Given the description of an element on the screen output the (x, y) to click on. 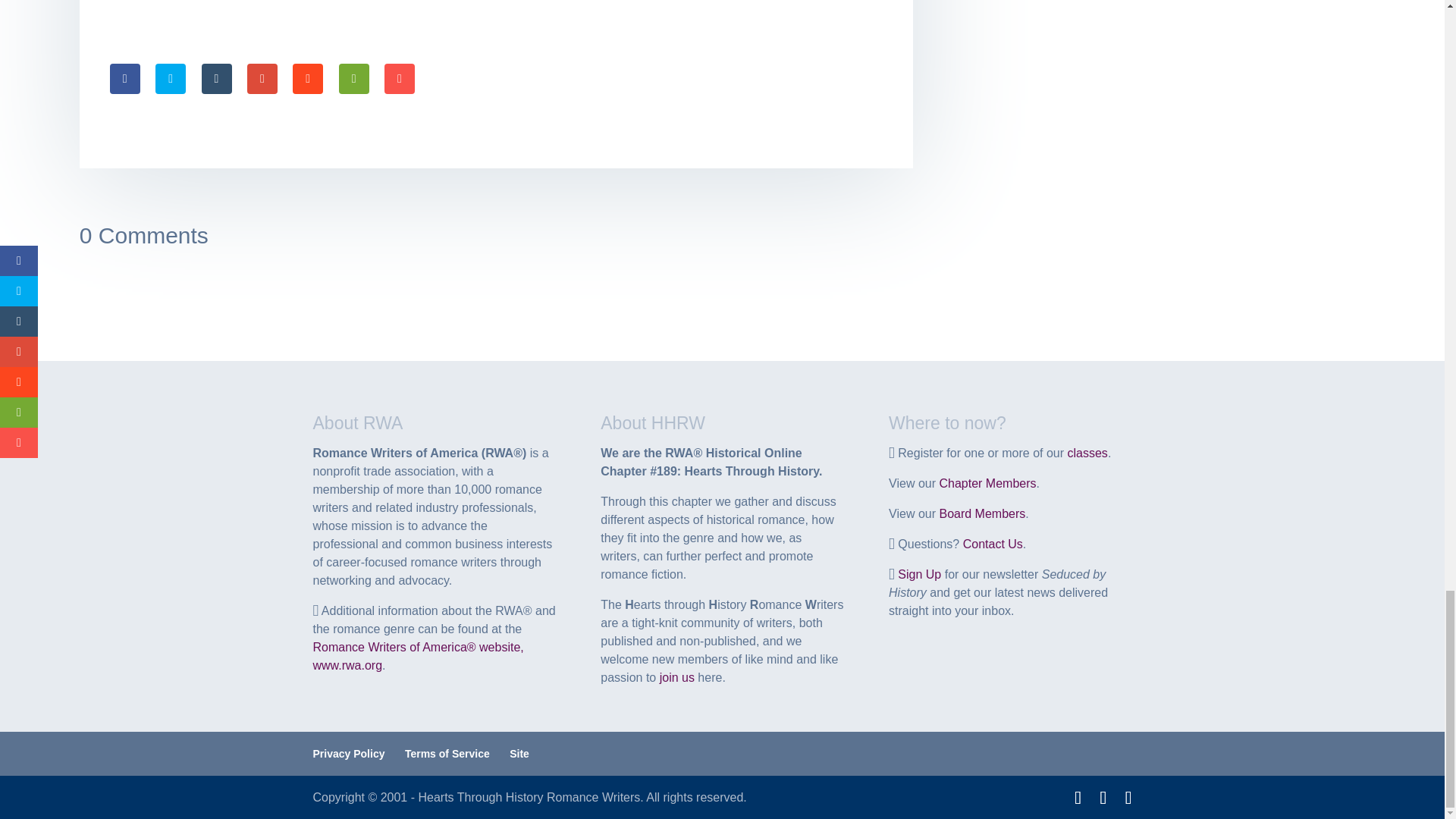
Join Hearts Through History (676, 676)
